Given the description of an element on the screen output the (x, y) to click on. 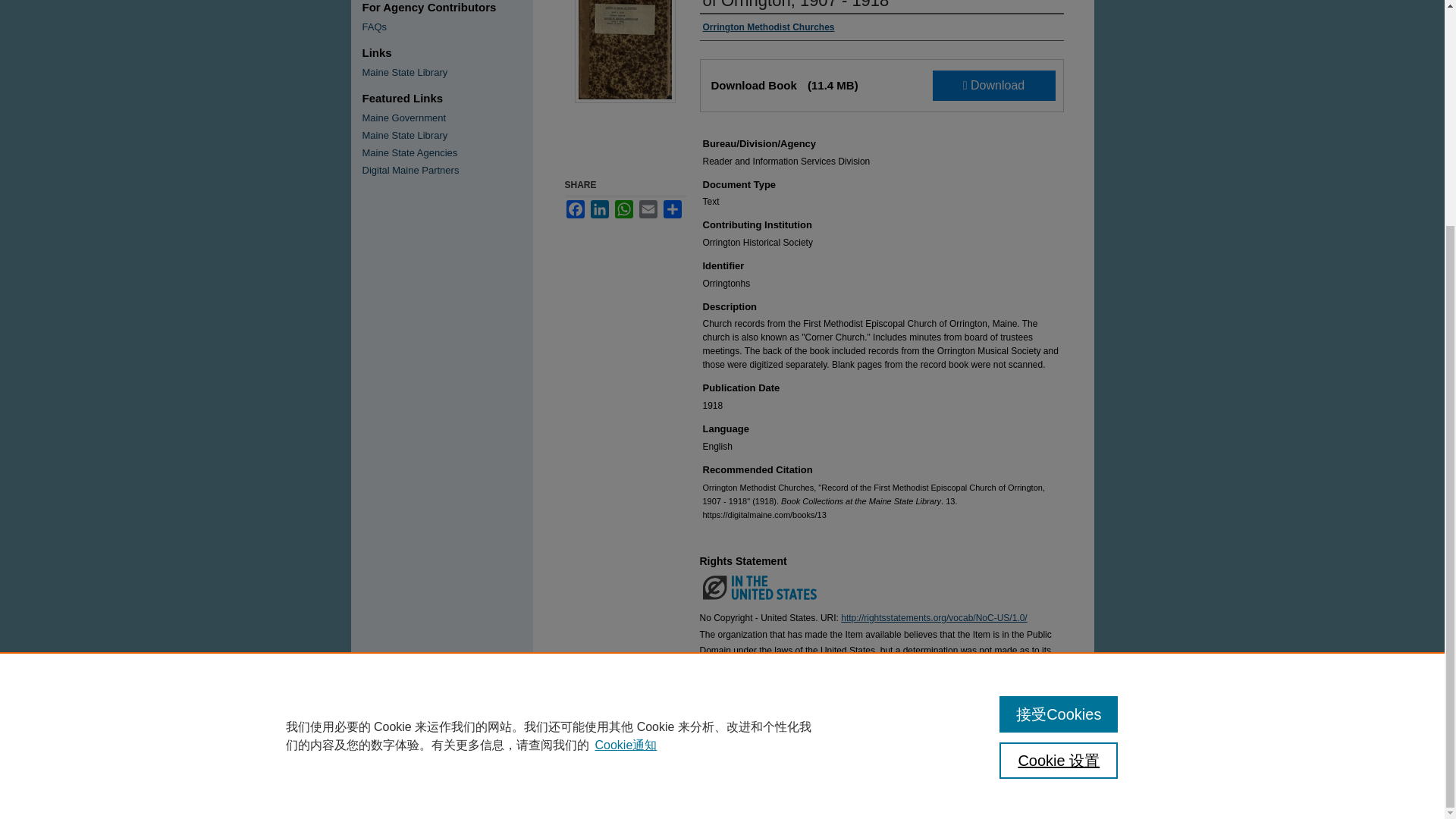
Orrington Methodist Churches (767, 27)
WhatsApp (622, 208)
Download (994, 85)
Facebook (574, 208)
Email (647, 208)
LinkedIn (599, 208)
